Given the description of an element on the screen output the (x, y) to click on. 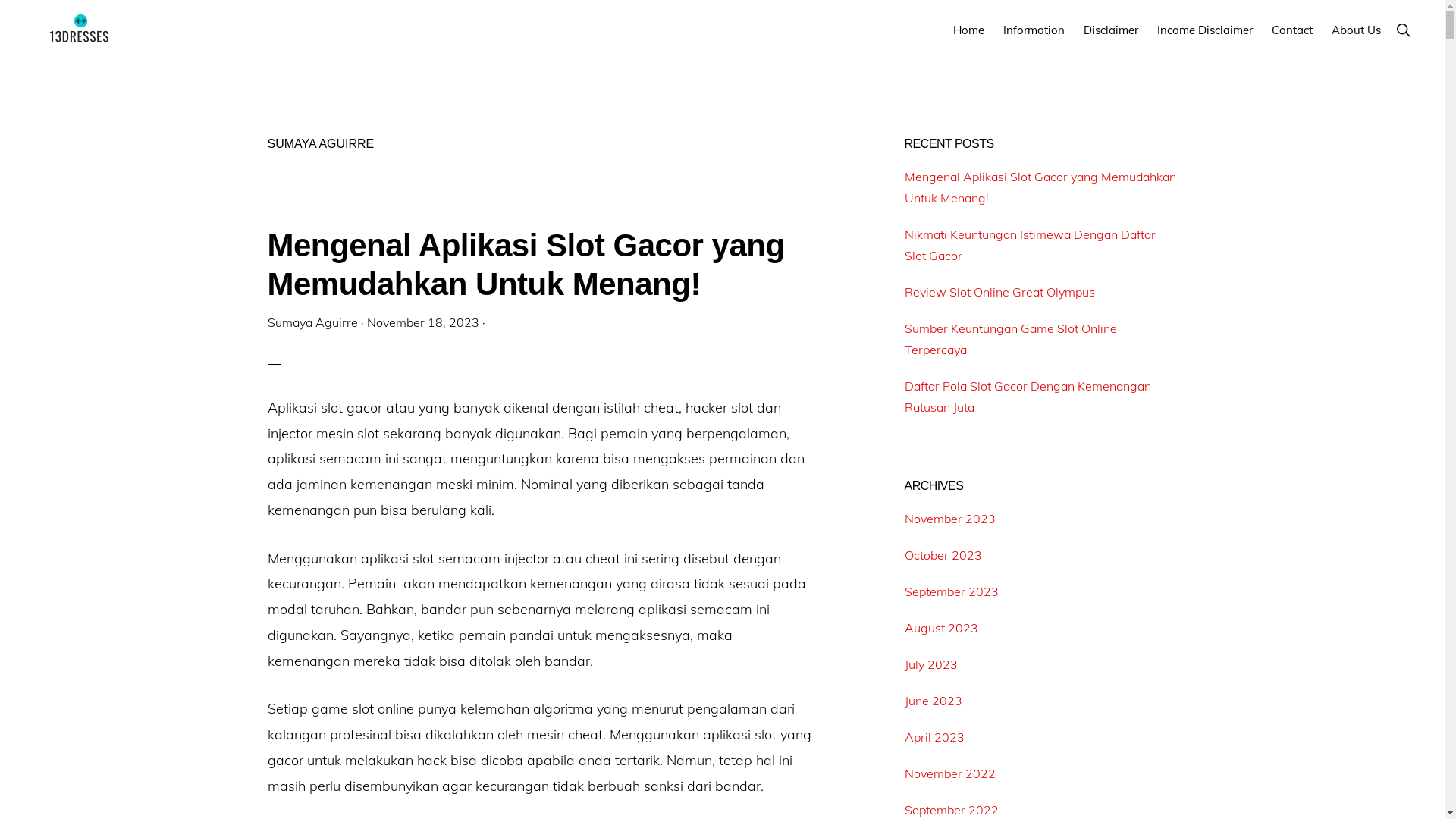
Contact Element type: text (1292, 29)
Information Element type: text (1033, 29)
Daftar Pola Slot Gacor Dengan Kemenangan Ratusan Juta Element type: text (1026, 396)
July 2023 Element type: text (930, 663)
June 2023 Element type: text (932, 700)
November 2023 Element type: text (948, 518)
Sumber Keuntungan Game Slot Online Terpercaya Element type: text (1009, 338)
Mengenal Aplikasi Slot Gacor yang Memudahkan Untuk Menang! Element type: text (1039, 187)
Review Slot Online Great Olympus Element type: text (998, 291)
October 2023 Element type: text (942, 554)
About Us Element type: text (1356, 29)
April 2023 Element type: text (933, 736)
August 2023 Element type: text (940, 627)
Home Element type: text (968, 29)
Income Disclaimer Element type: text (1204, 29)
Nikmati Keuntungan Istimewa Dengan Daftar Slot Gacor Element type: text (1028, 244)
November 2022 Element type: text (948, 773)
Skip to primary navigation Element type: text (0, 0)
September 2022 Element type: text (950, 809)
Sumaya Aguirre Element type: text (311, 321)
Mengenal Aplikasi Slot Gacor yang Memudahkan Untuk Menang! Element type: text (525, 264)
Show Search Element type: text (1403, 29)
September 2023 Element type: text (950, 591)
Disclaimer Element type: text (1110, 29)
